Given the description of an element on the screen output the (x, y) to click on. 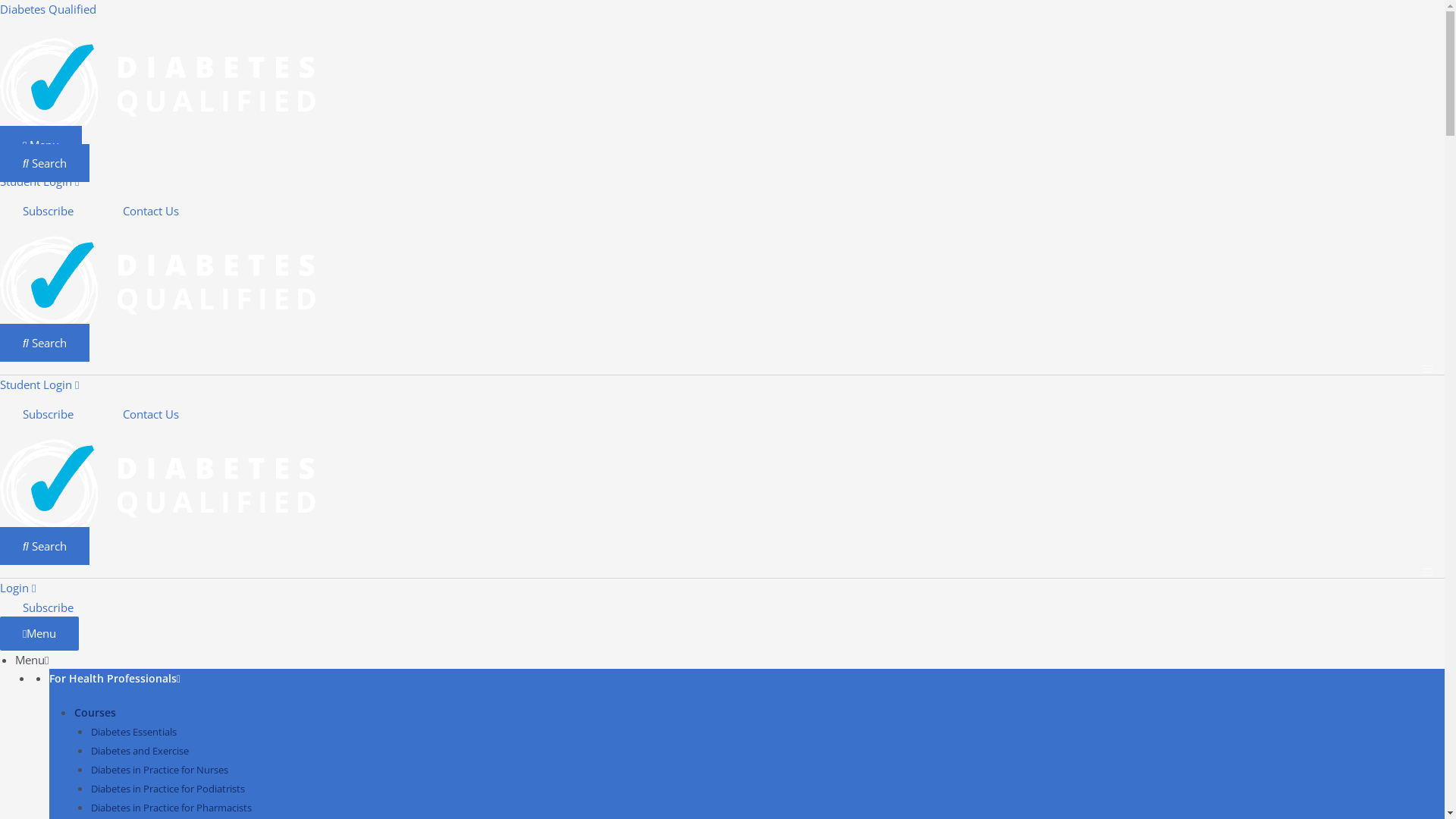
Search Element type: text (44, 545)
Diabetes in Practice for Pharmacists Element type: text (171, 807)
Menu Element type: text (39, 633)
Diabetes in Practice for Podiatrists Element type: text (167, 788)
Diabetes Qualified Element type: text (48, 8)
Subscribe Element type: text (50, 413)
Diabetes and Exercise Element type: text (139, 750)
Student Login Element type: text (39, 384)
Menu Element type: text (40, 144)
Subscribe Element type: text (48, 607)
Contact Us Element type: text (152, 210)
Contact Us Element type: text (152, 413)
Login Element type: text (17, 587)
Search Element type: text (44, 163)
Diabetes Essentials Element type: text (133, 731)
Search Element type: text (44, 342)
Student Login Element type: text (39, 180)
Subscribe Element type: text (50, 210)
Diabetes in Practice for Nurses Element type: text (159, 769)
